Given the description of an element on the screen output the (x, y) to click on. 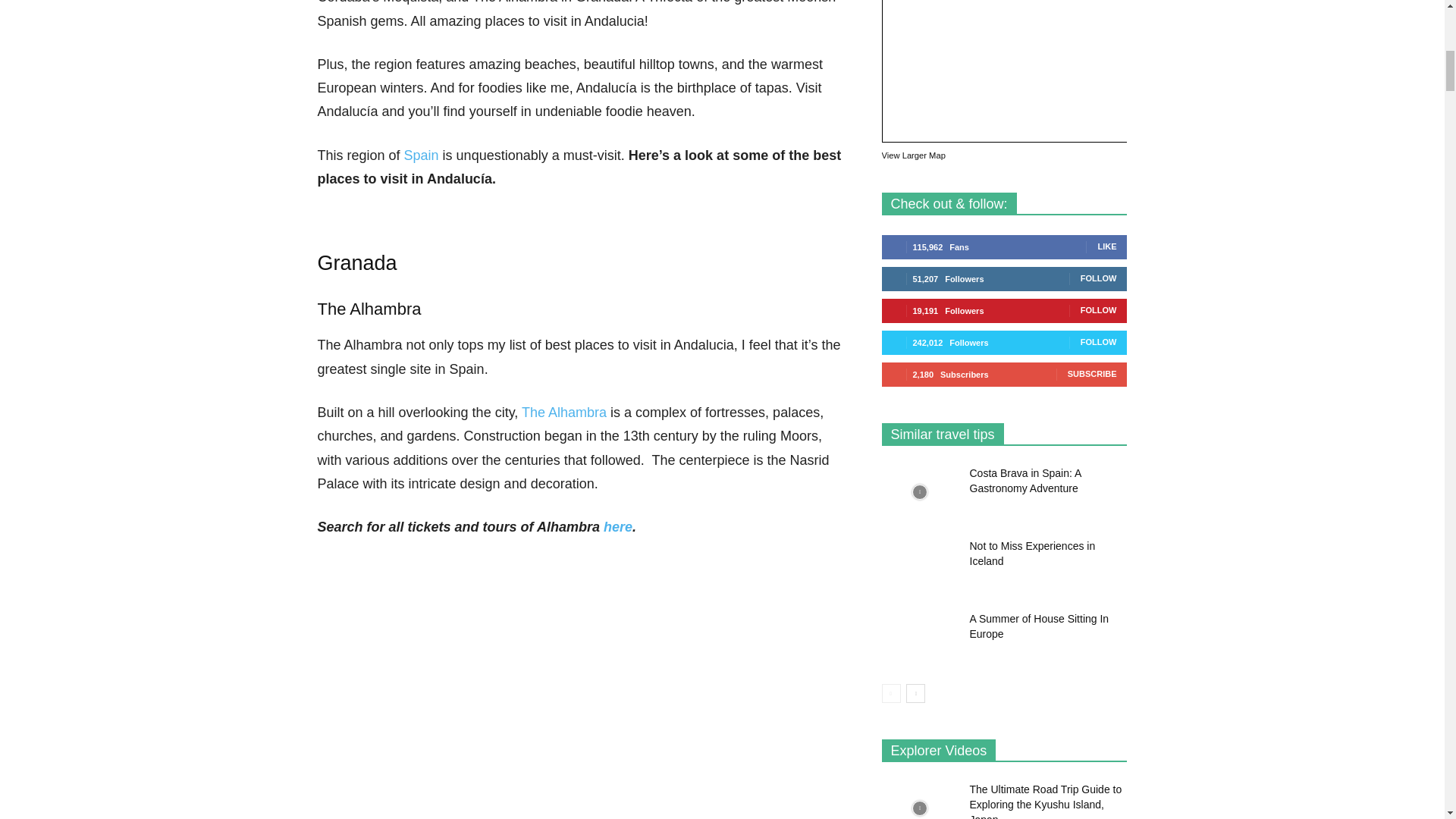
FareHarbor (1342, 64)
